Given the description of an element on the screen output the (x, y) to click on. 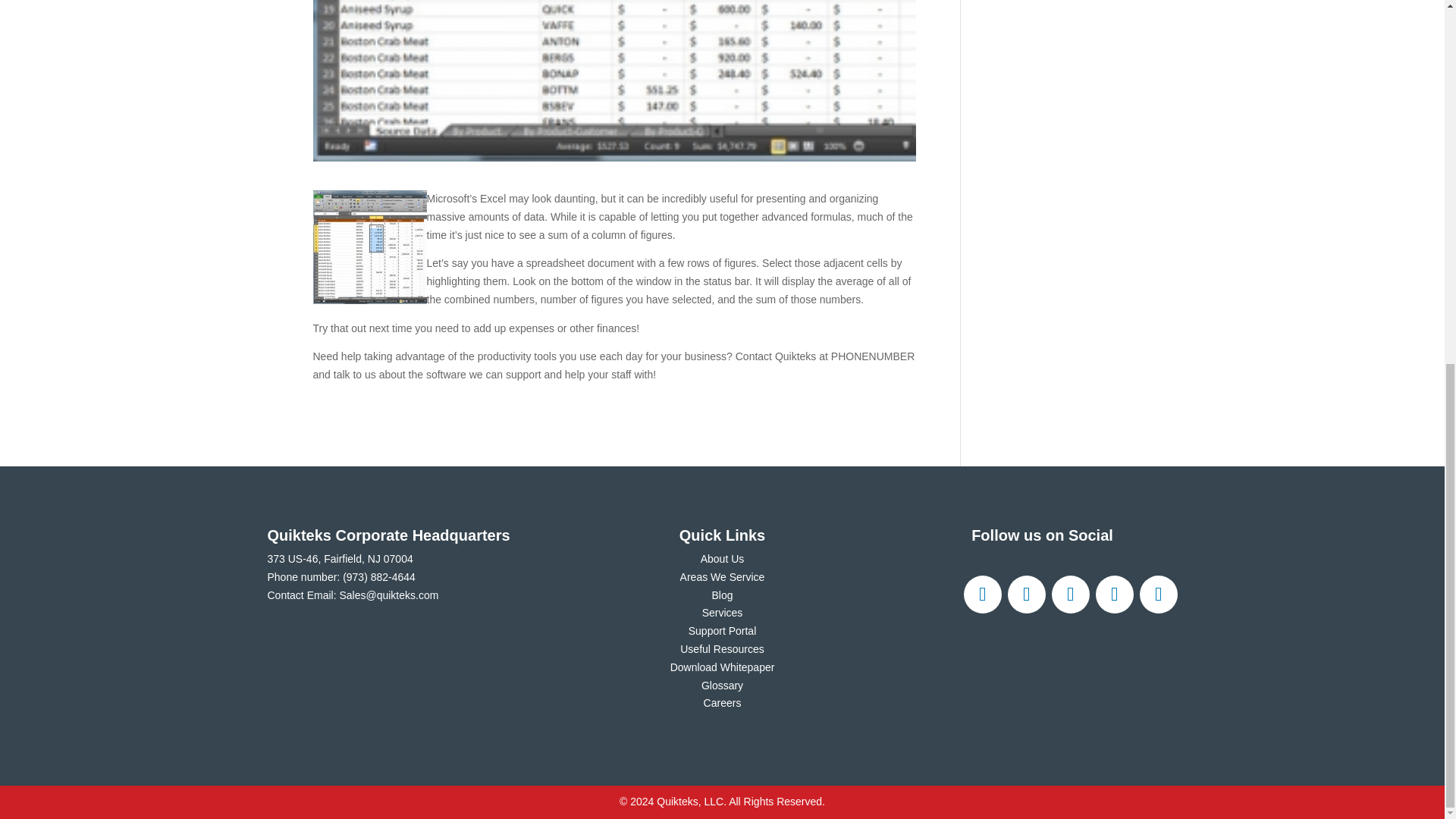
Follow on LinkedIn (1113, 594)
About Us (722, 558)
Support Portal (722, 630)
Blog (721, 594)
Areas We Service (722, 576)
Download Whitepaper (721, 666)
Follow on X (1026, 594)
Follow on Youtube (1157, 594)
Useful Resources (721, 648)
Follow on Instagram (1070, 594)
Follow on Facebook (981, 594)
373 US-46, Fairfield, NJ 07004 (339, 558)
Services (721, 612)
